Given the description of an element on the screen output the (x, y) to click on. 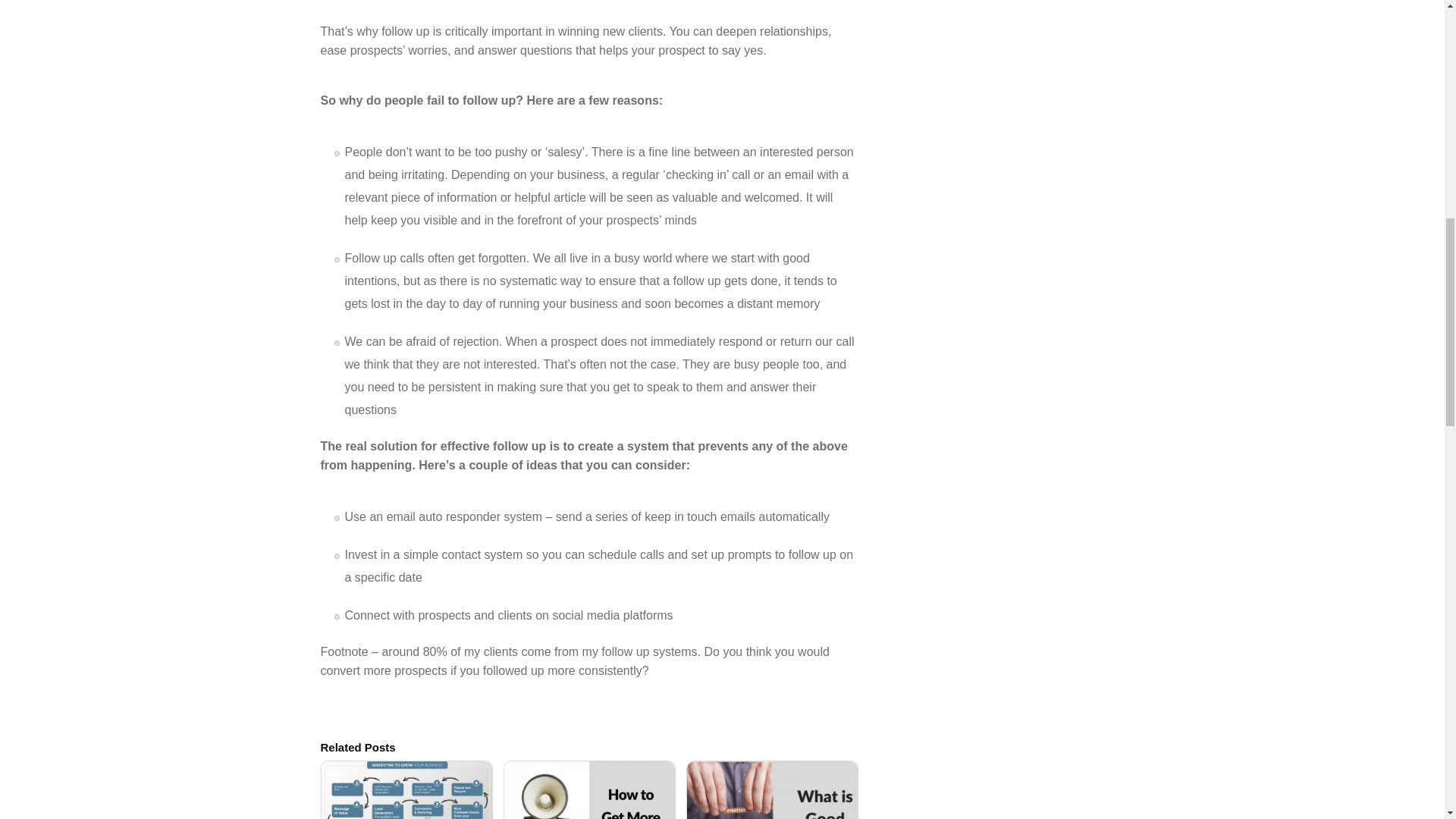
How to Get More Referrals (589, 789)
What is Good Marketing? (772, 789)
